Given the description of an element on the screen output the (x, y) to click on. 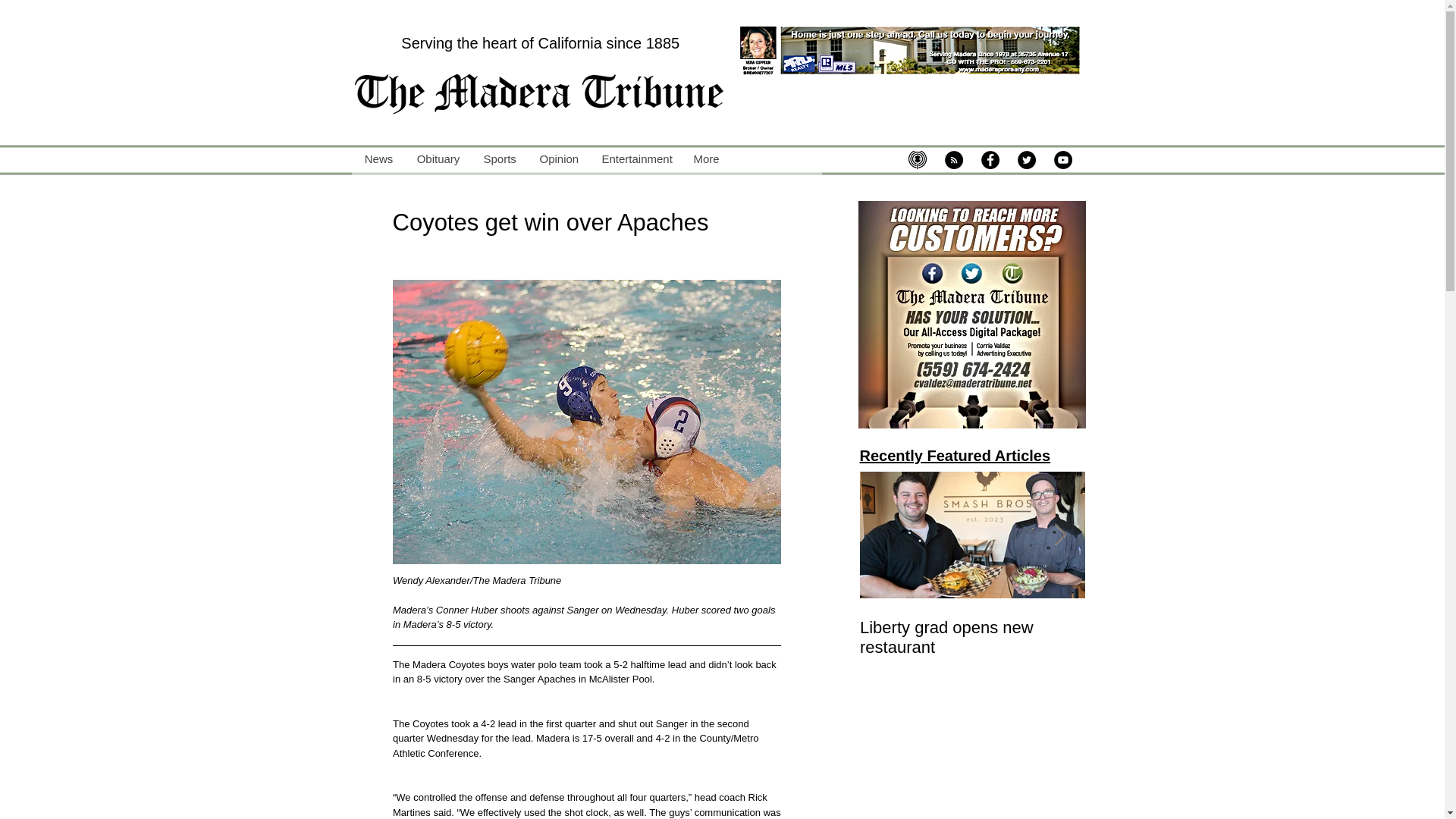
Entertainment (635, 159)
Facebook Like (755, 191)
News (378, 159)
Liberty grad opens new restaurant (972, 637)
Obituary (437, 159)
Opinion (558, 159)
Hundreds attend MUSD Summer Squad Camps (1196, 637)
Sports (499, 159)
